Given the description of an element on the screen output the (x, y) to click on. 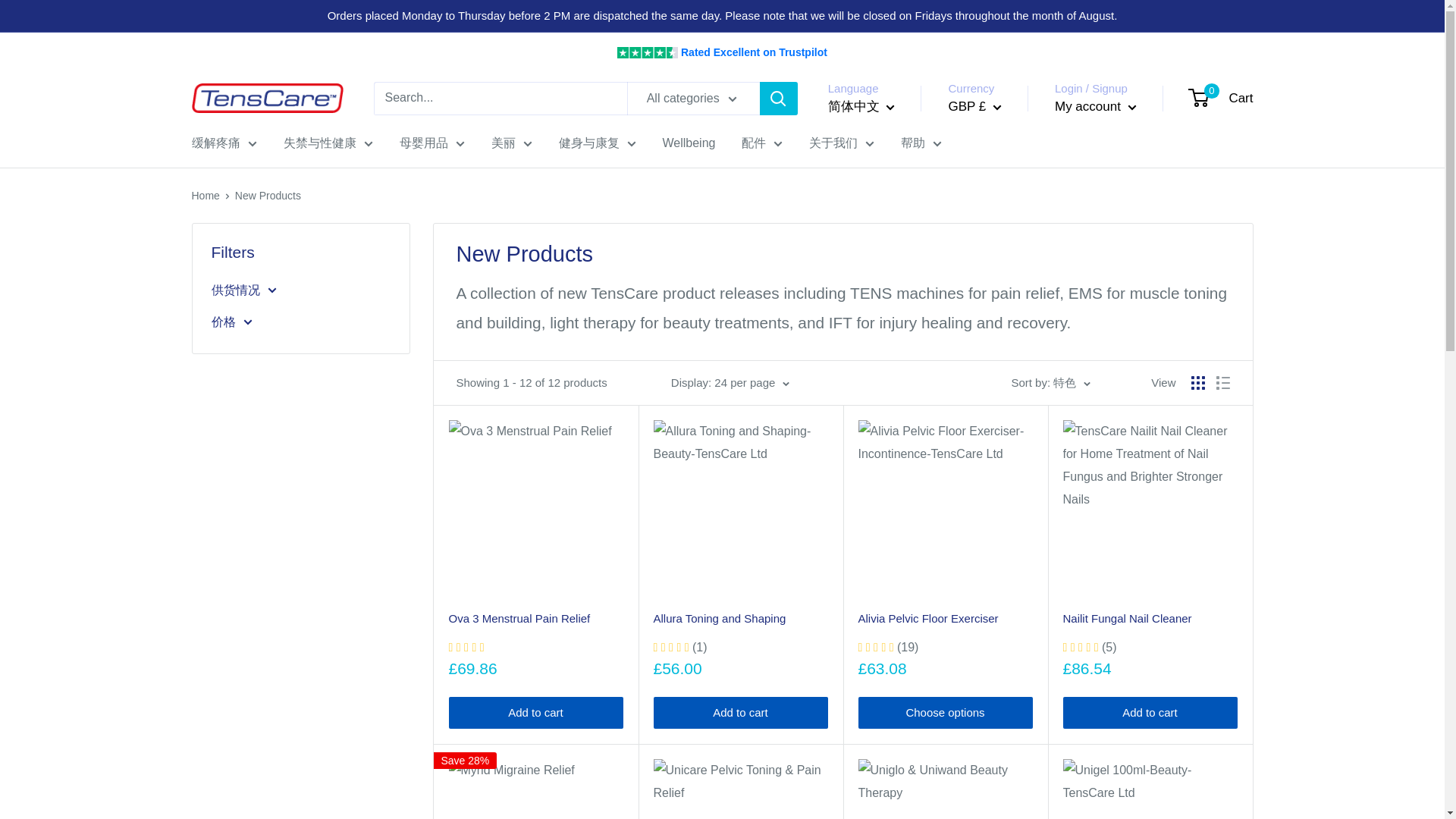
Rated Excellent on Trustpilot (722, 51)
